Given the description of an element on the screen output the (x, y) to click on. 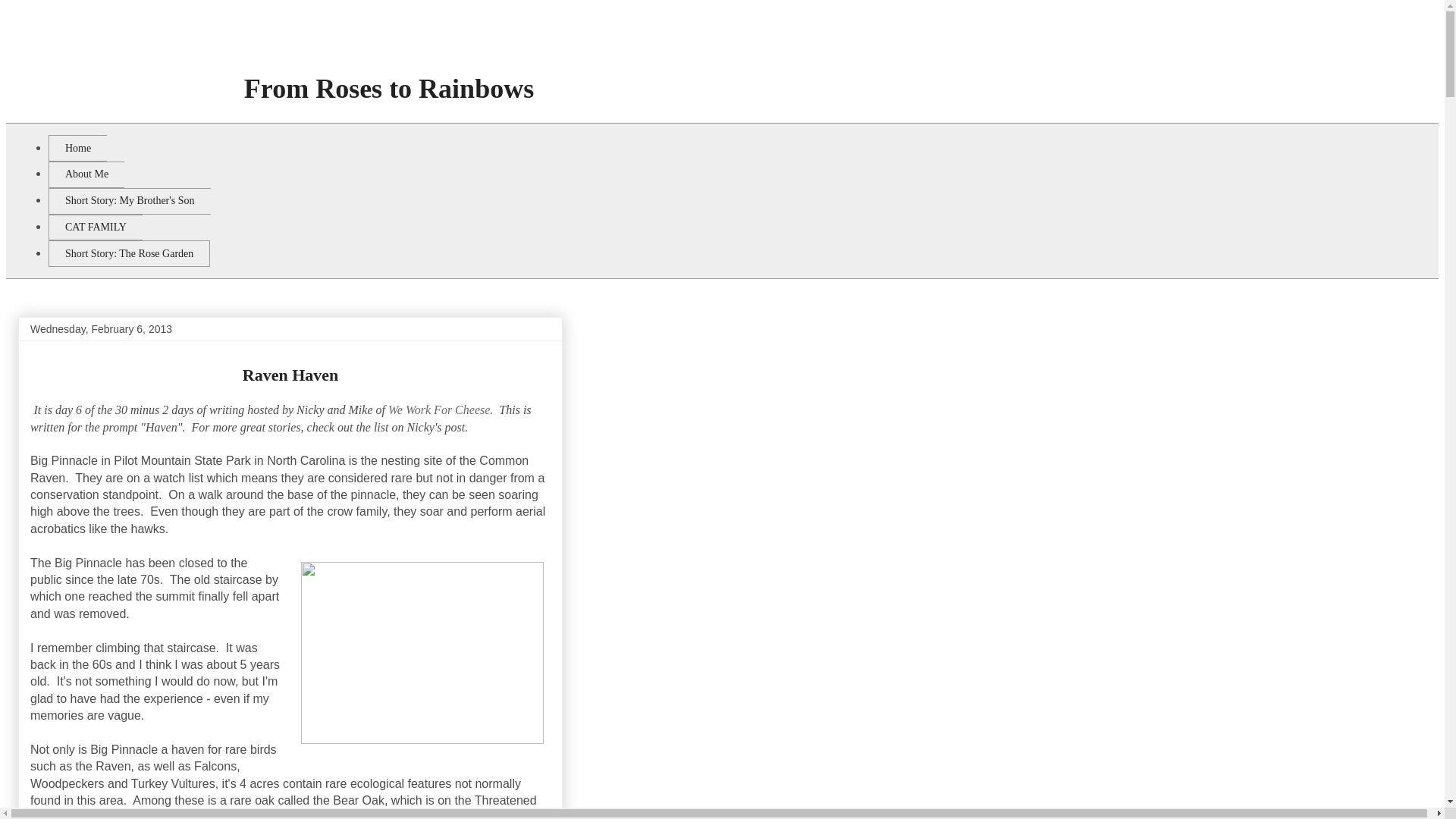
We Work For Cheese (438, 409)
From Roses to Rainbows (388, 103)
CAT FAMILY (95, 227)
Short Story: My Brother's Son (129, 201)
Short Story: The Rose Garden (128, 253)
About Me (85, 174)
Home (77, 148)
